Given the description of an element on the screen output the (x, y) to click on. 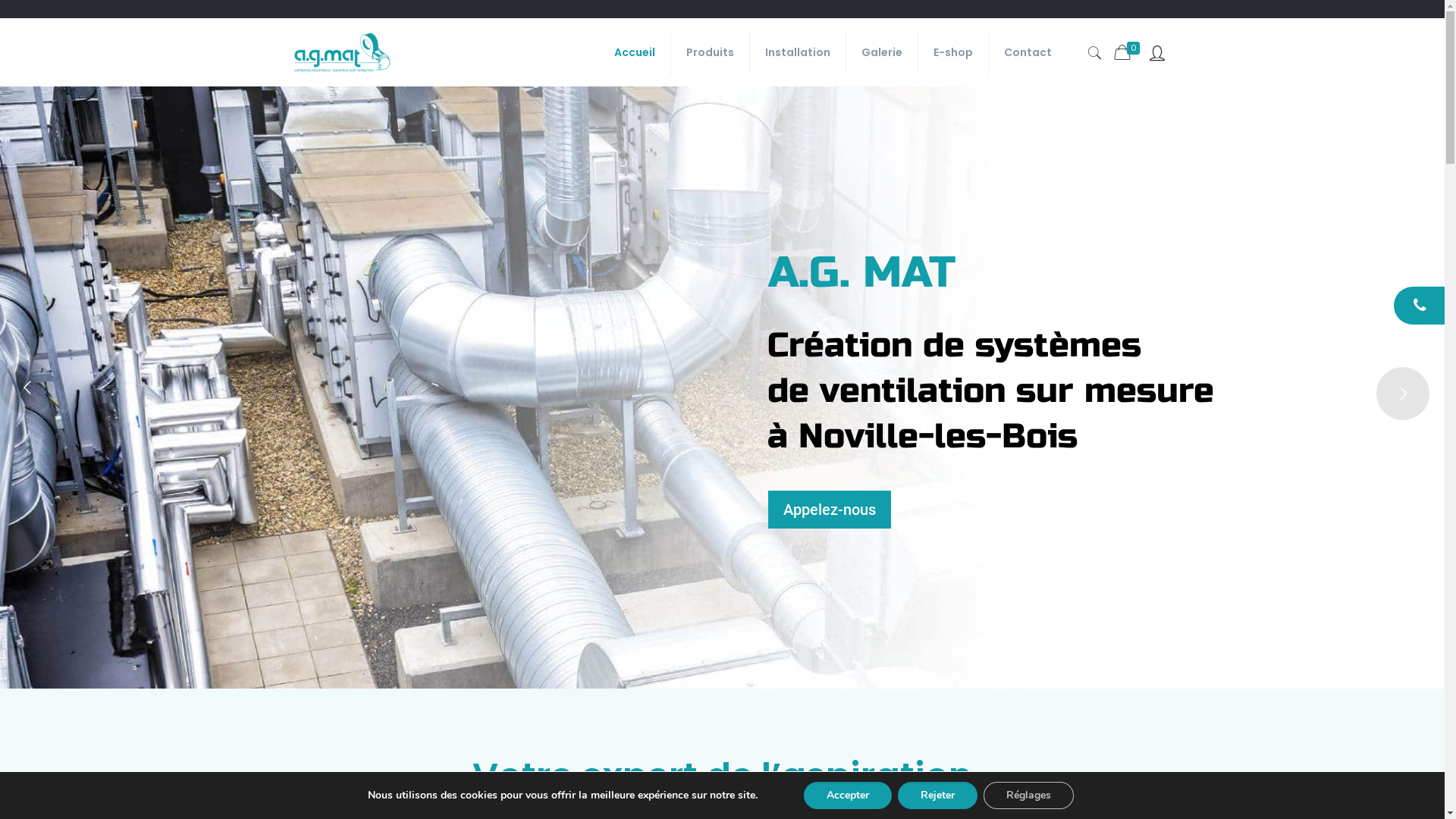
Accepter Element type: text (847, 795)
Installation Element type: text (797, 52)
E-shop Element type: text (953, 52)
Produits Element type: text (710, 52)
Rejeter Element type: text (937, 795)
Accueil Element type: text (635, 52)
Contact Element type: text (1027, 52)
081/25 15 15 Element type: text (1418, 305)
A.G.MAT Element type: hover (342, 52)
Appelez-nous Element type: text (829, 509)
0 Element type: text (1128, 52)
Galerie Element type: text (882, 52)
